Given the description of an element on the screen output the (x, y) to click on. 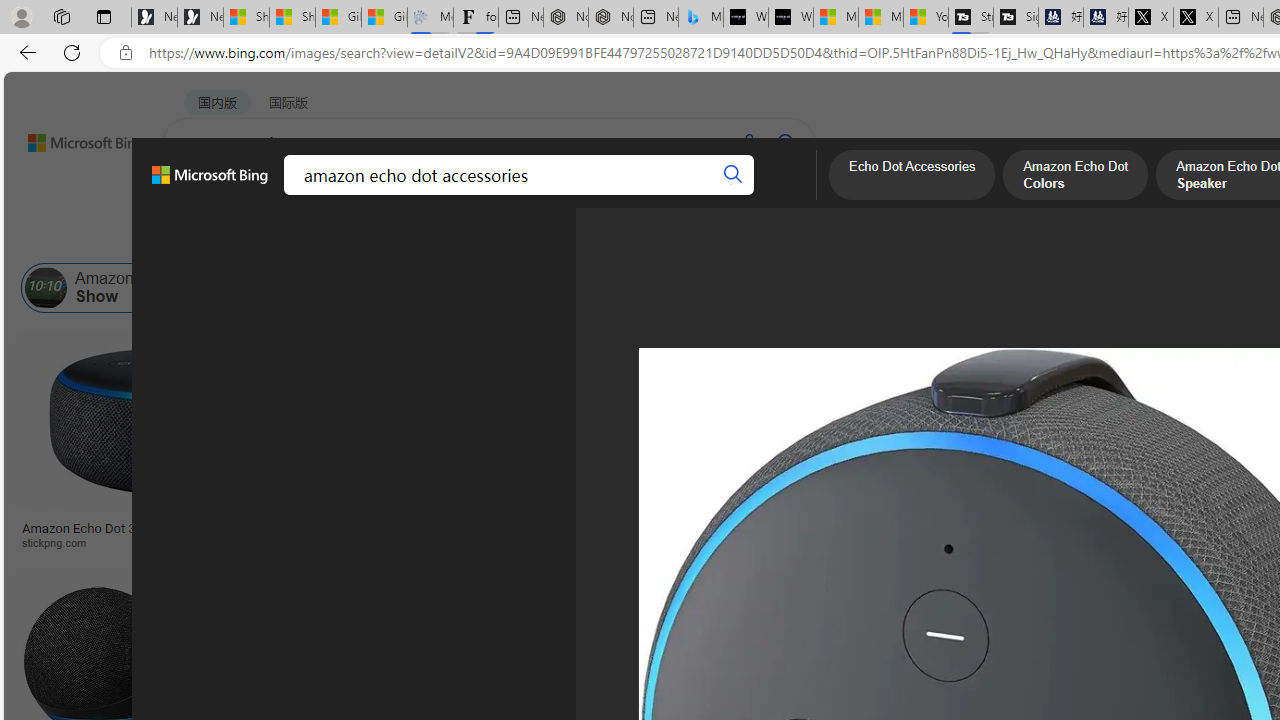
Type (372, 237)
Microsoft Bing Travel - Shangri-La Hotel Bangkok (700, 17)
Amazon Echo 2nd Generation (999, 287)
Amazon Echo Dot Colors (1075, 177)
What's the best AI voice generator? - voice.ai (790, 17)
VIDEOS (458, 195)
Gilma and Hector both pose tropical trouble for Hawaii (384, 17)
Dropdown Menu (779, 195)
Amazon Echo Speaker (1199, 287)
Class: item col (1070, 287)
stickpng.herokuapp.com (600, 541)
